Given the description of an element on the screen output the (x, y) to click on. 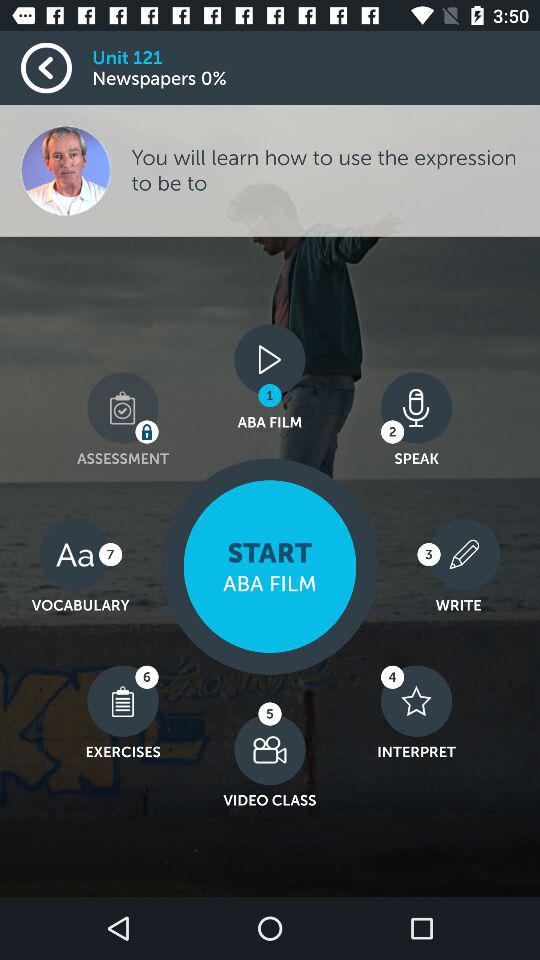
back button (56, 67)
